Given the description of an element on the screen output the (x, y) to click on. 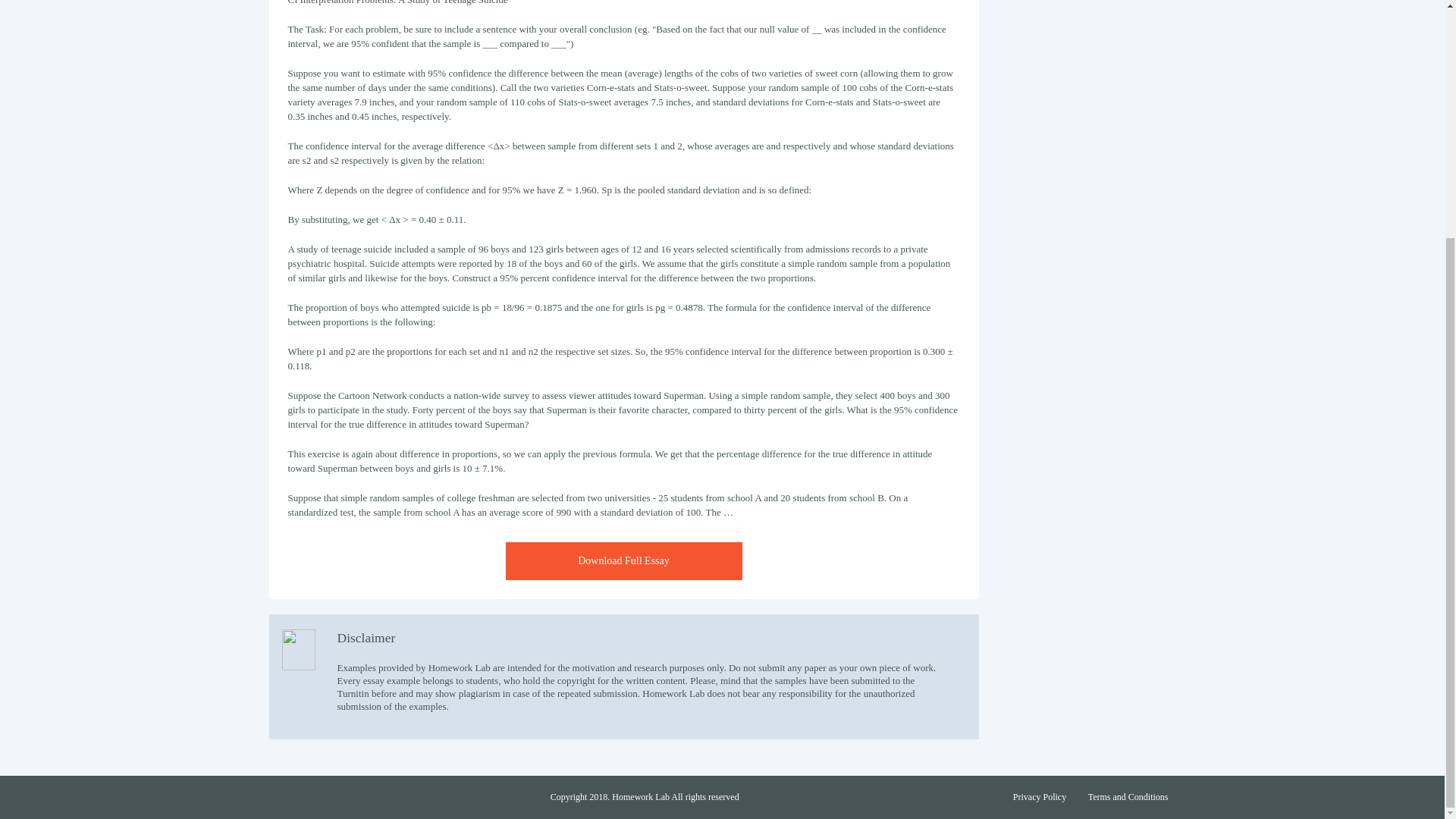
Privacy Policy (1039, 796)
Download Full Essay (623, 560)
Terms and Conditions (1128, 796)
